Given the description of an element on the screen output the (x, y) to click on. 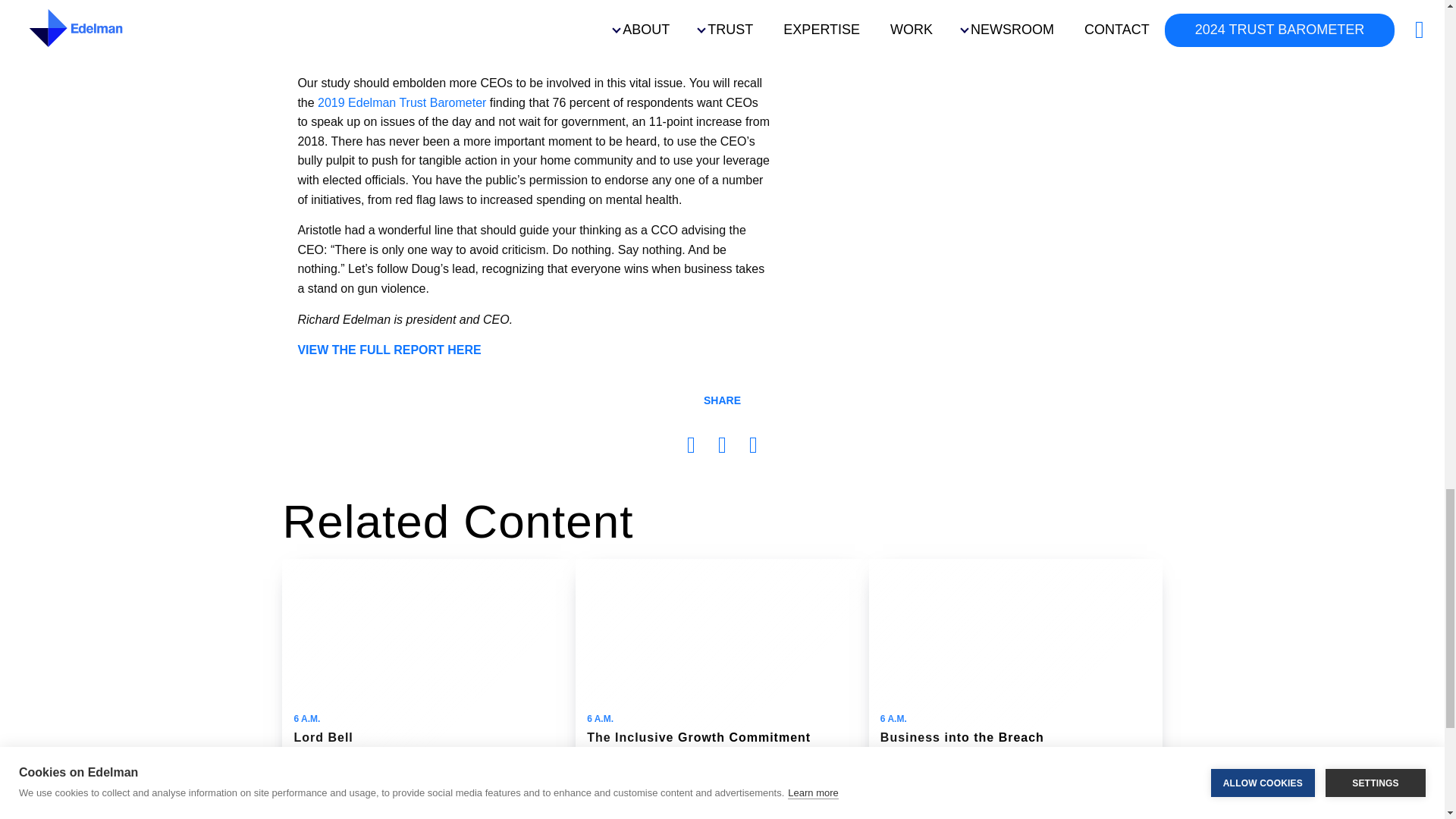
Share on LinkedIn (721, 446)
Share on Twitter (753, 446)
Lord Bell (428, 688)
Business into the Breach (1015, 688)
The Inclusive Growth Commitment (722, 688)
Share on Facebook (691, 446)
